Given the description of an element on the screen output the (x, y) to click on. 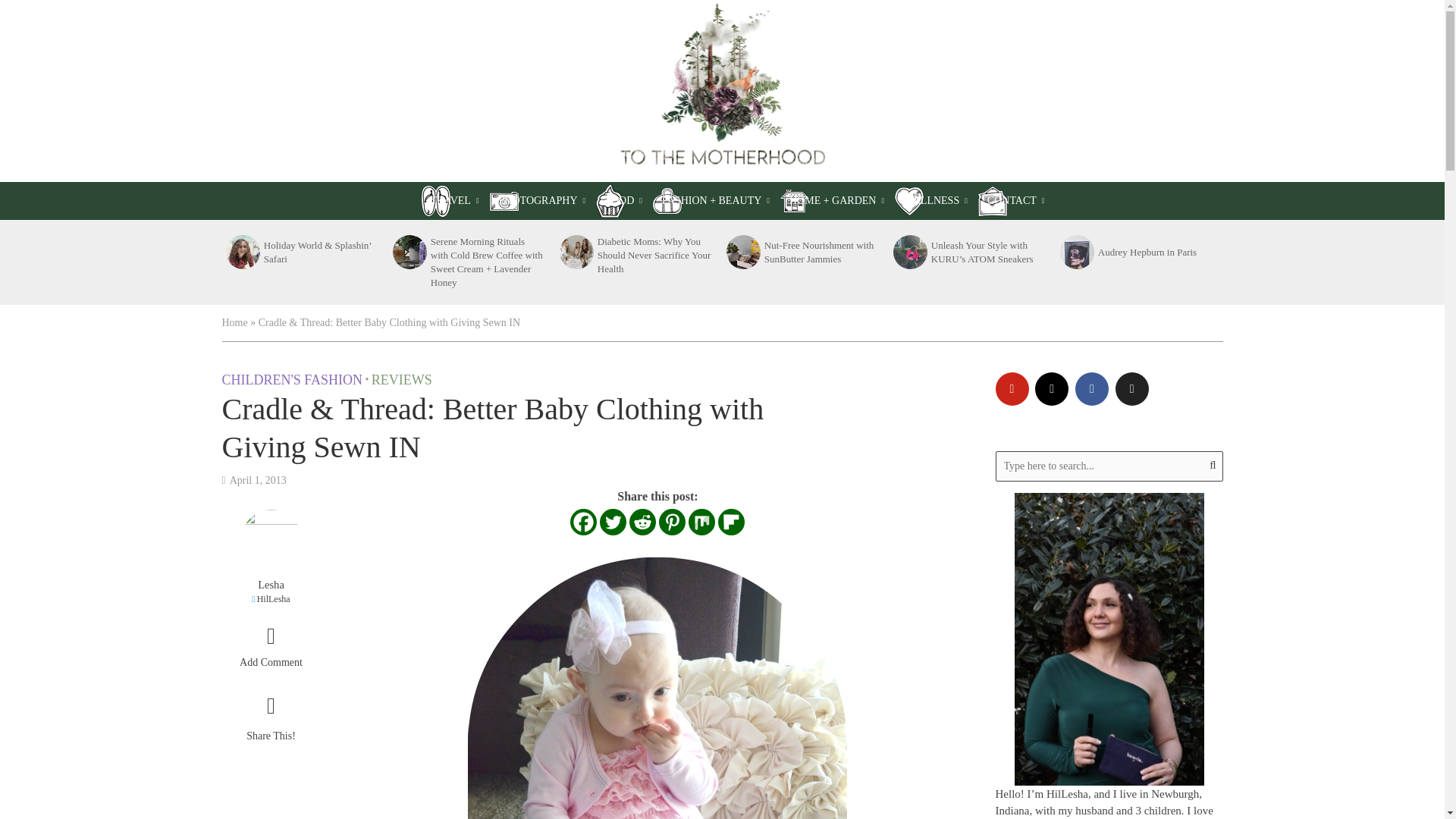
TRAVEL (453, 200)
FOOD (623, 200)
PHOTOGRAPHY (542, 200)
